Given the description of an element on the screen output the (x, y) to click on. 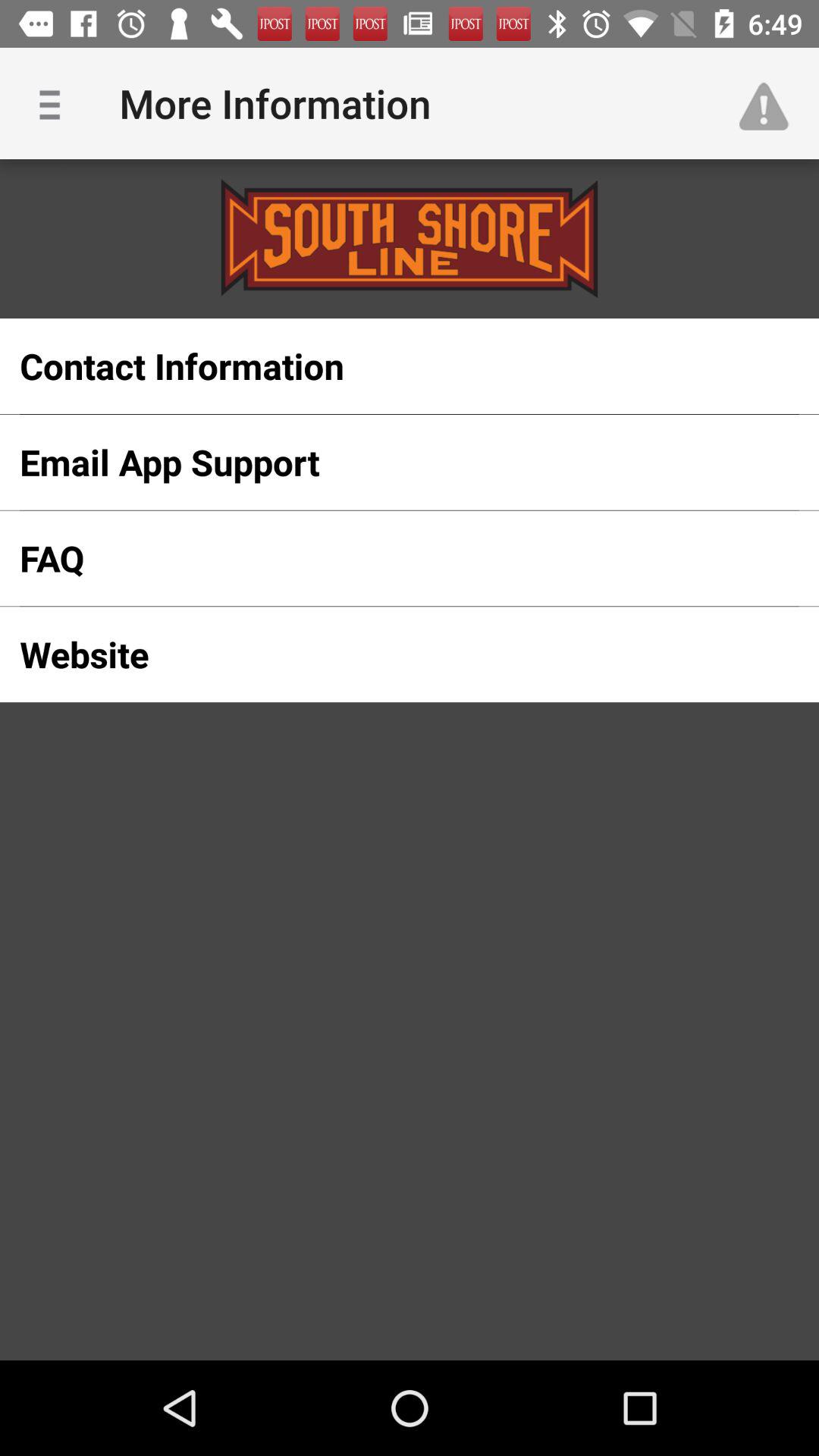
press icon at the top right corner (771, 103)
